Given the description of an element on the screen output the (x, y) to click on. 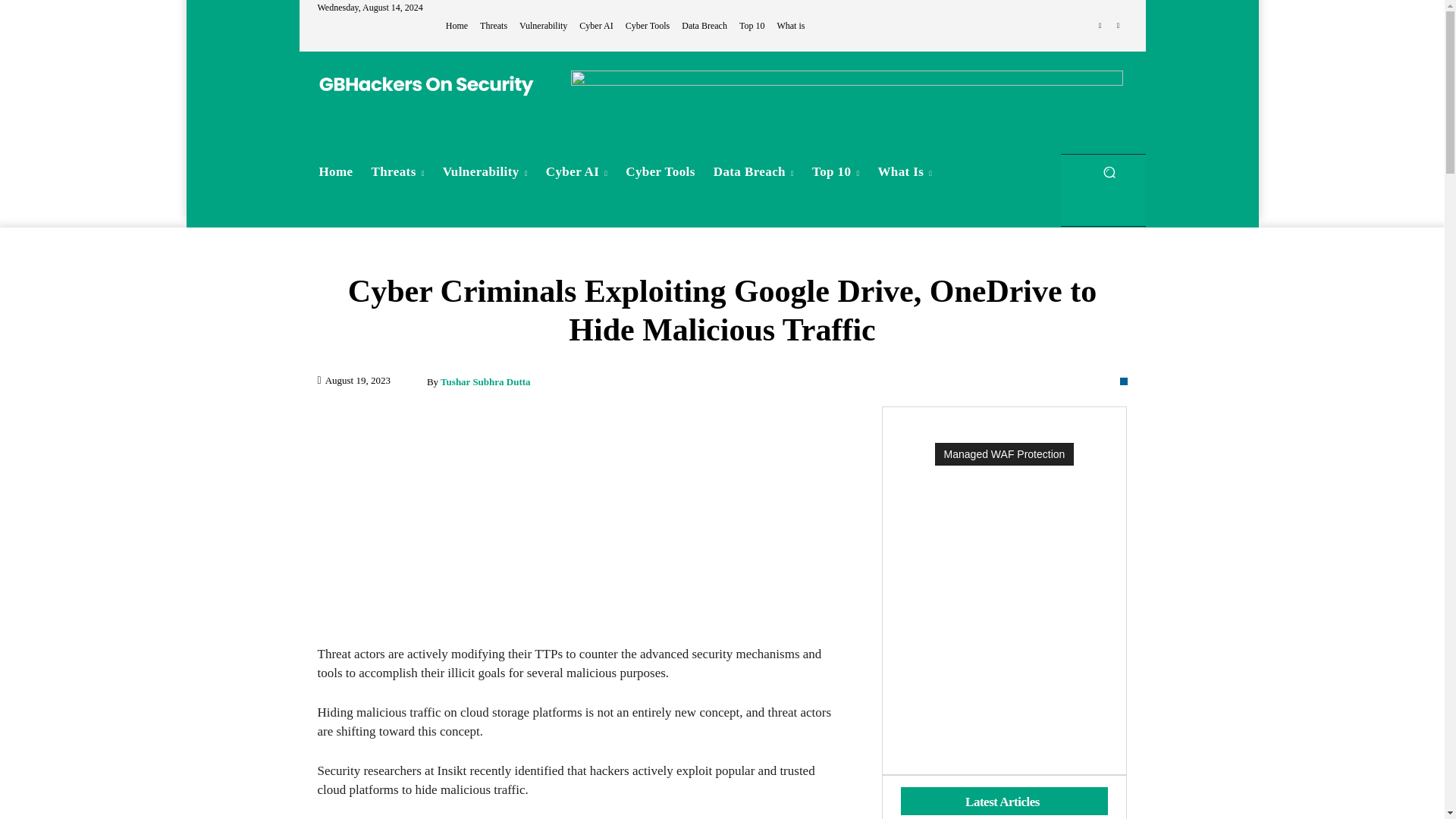
Cyber AI (595, 25)
Twitter (1117, 25)
Home (334, 171)
What is (790, 25)
Data Breach (703, 25)
Vulnerability (543, 25)
Top 10 (752, 25)
Linkedin (1099, 25)
Cyber Tools (647, 25)
Threats (397, 171)
